Given the description of an element on the screen output the (x, y) to click on. 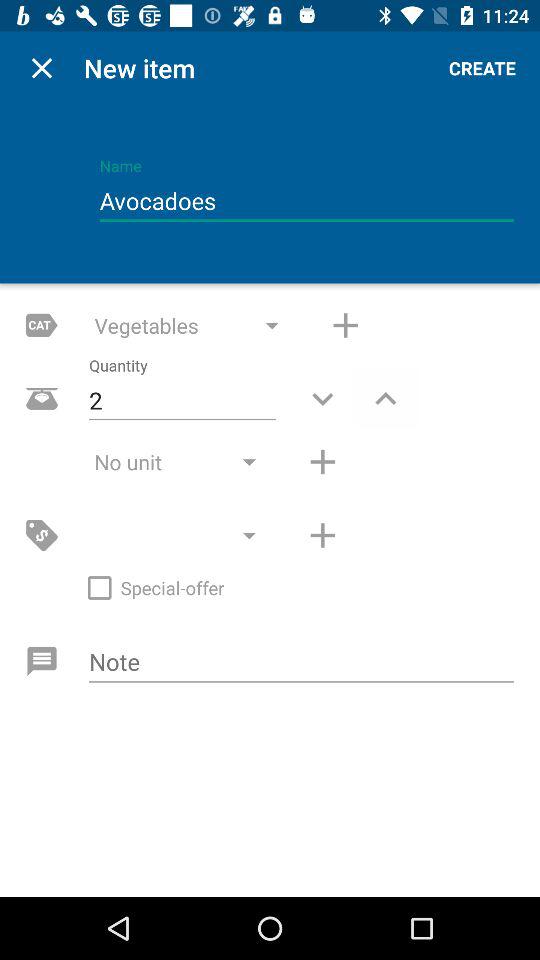
add unit of measurement (322, 462)
